Given the description of an element on the screen output the (x, y) to click on. 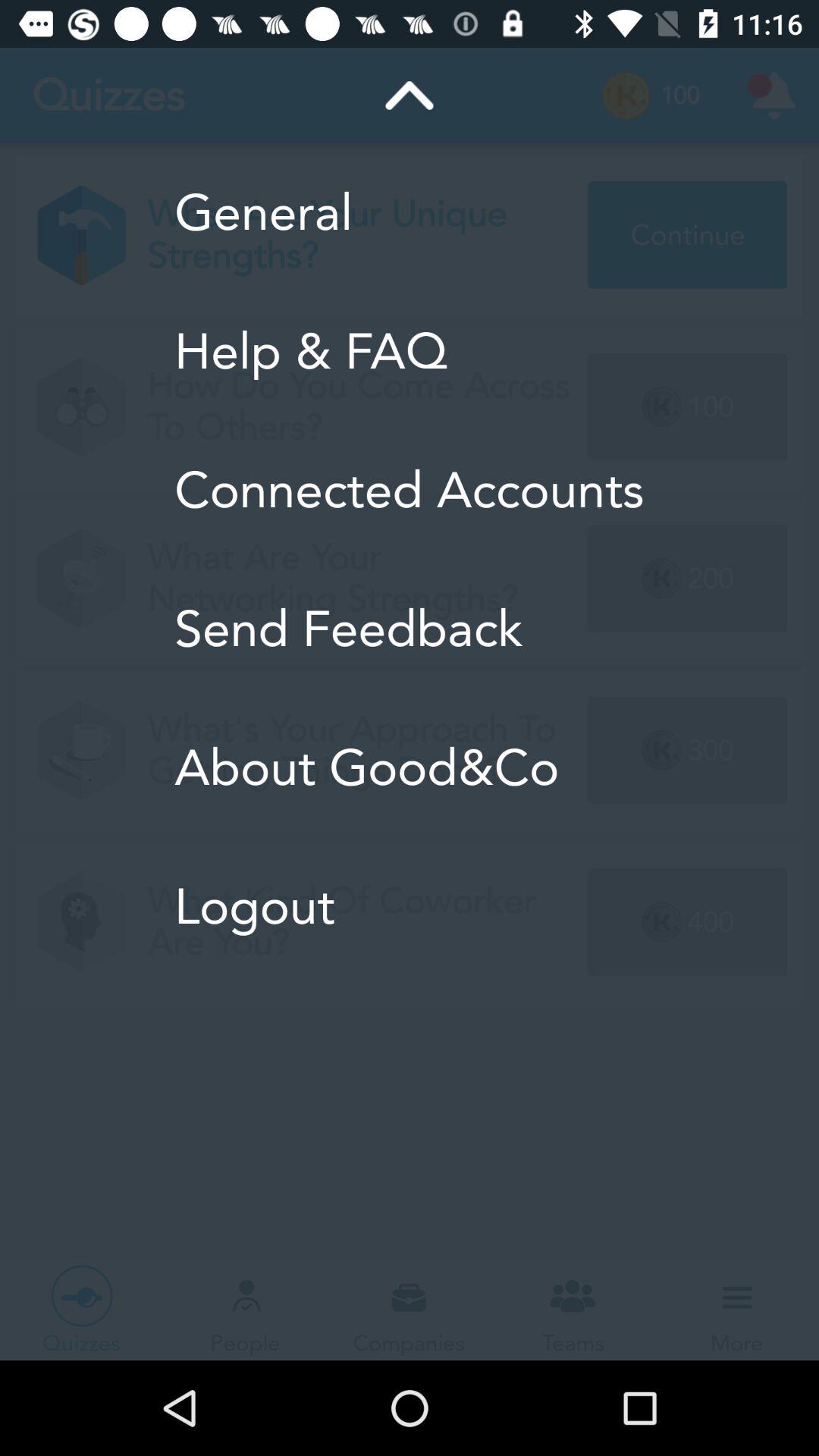
turn off item below connected accounts (408, 628)
